Given the description of an element on the screen output the (x, y) to click on. 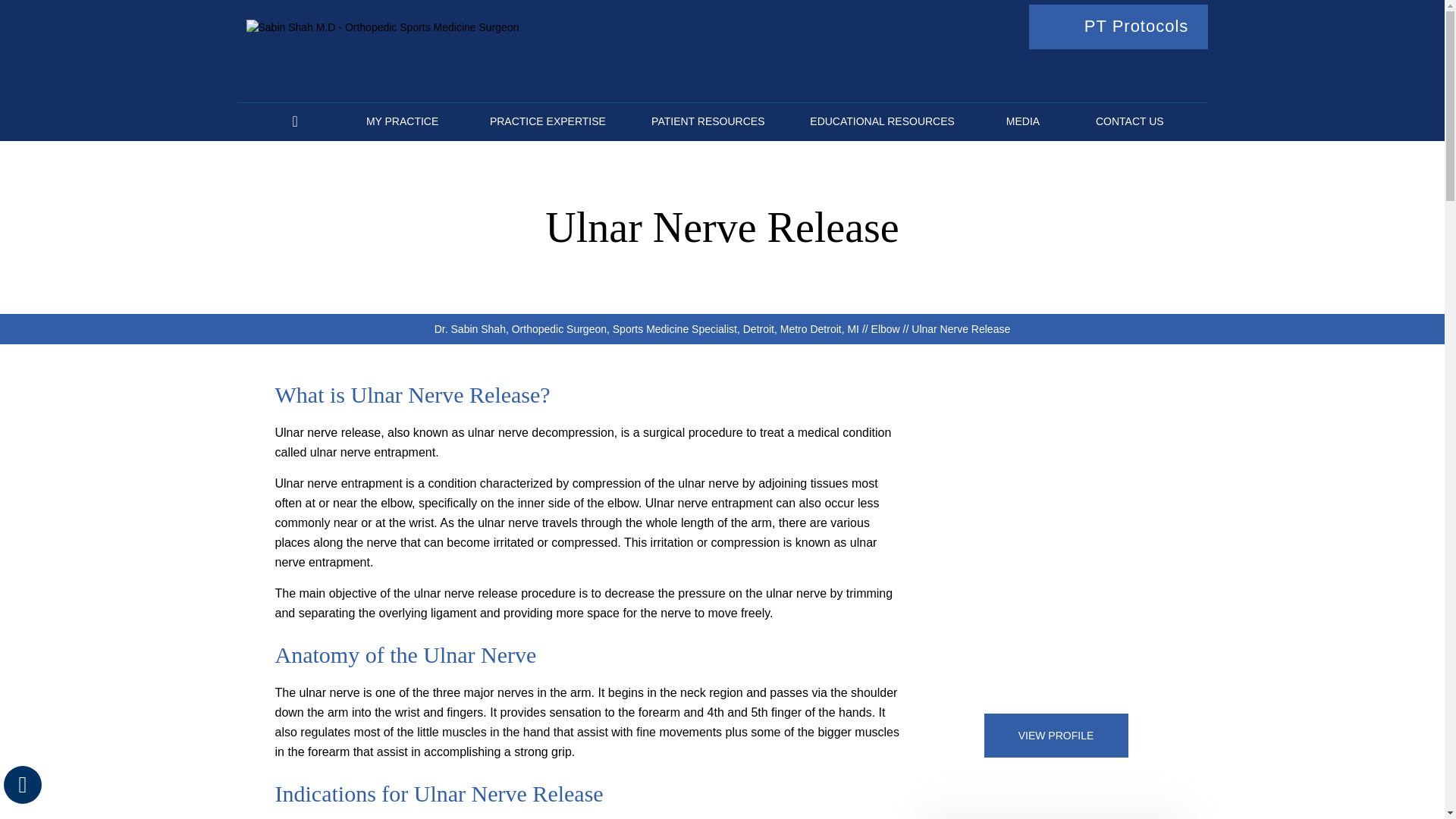
Accessible Tool Options (23, 784)
EDUCATIONAL RESOURCES (882, 121)
HOME (294, 121)
Hide (22, 784)
PRACTICE EXPERTISE (548, 121)
MEDIA (1022, 121)
PT Protocols (1118, 26)
MY PRACTICE (402, 121)
PATIENT RESOURCES (707, 121)
